Given the description of an element on the screen output the (x, y) to click on. 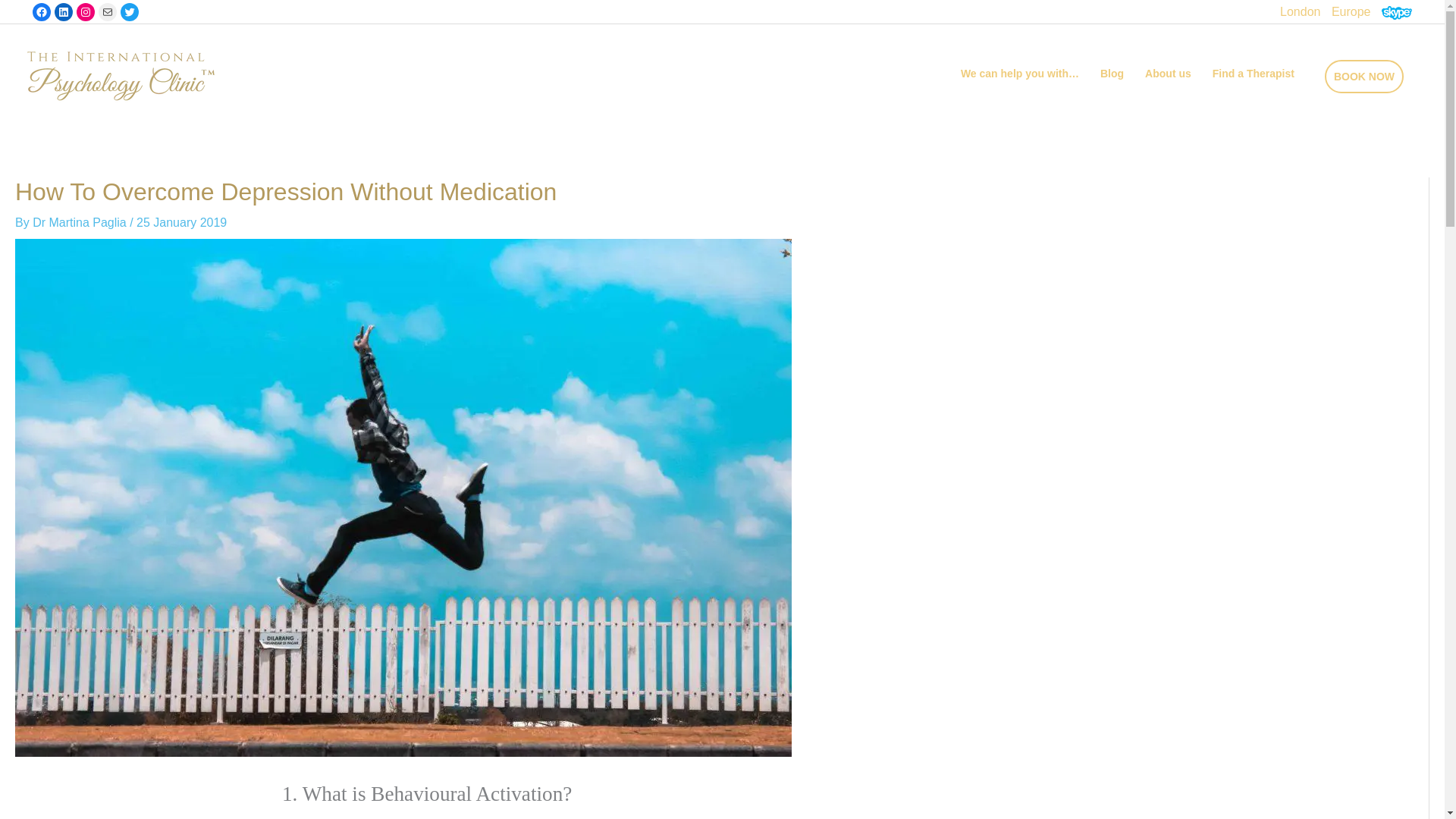
Europe (1351, 11)
Mail (107, 12)
Instagram (85, 12)
London (1299, 11)
Dr Martina Paglia (80, 222)
View all posts by Dr Martina Paglia (80, 222)
BOOK NOW (1363, 76)
Twitter (129, 12)
Find a Therapist (1253, 73)
About us (1168, 73)
